Given the description of an element on the screen output the (x, y) to click on. 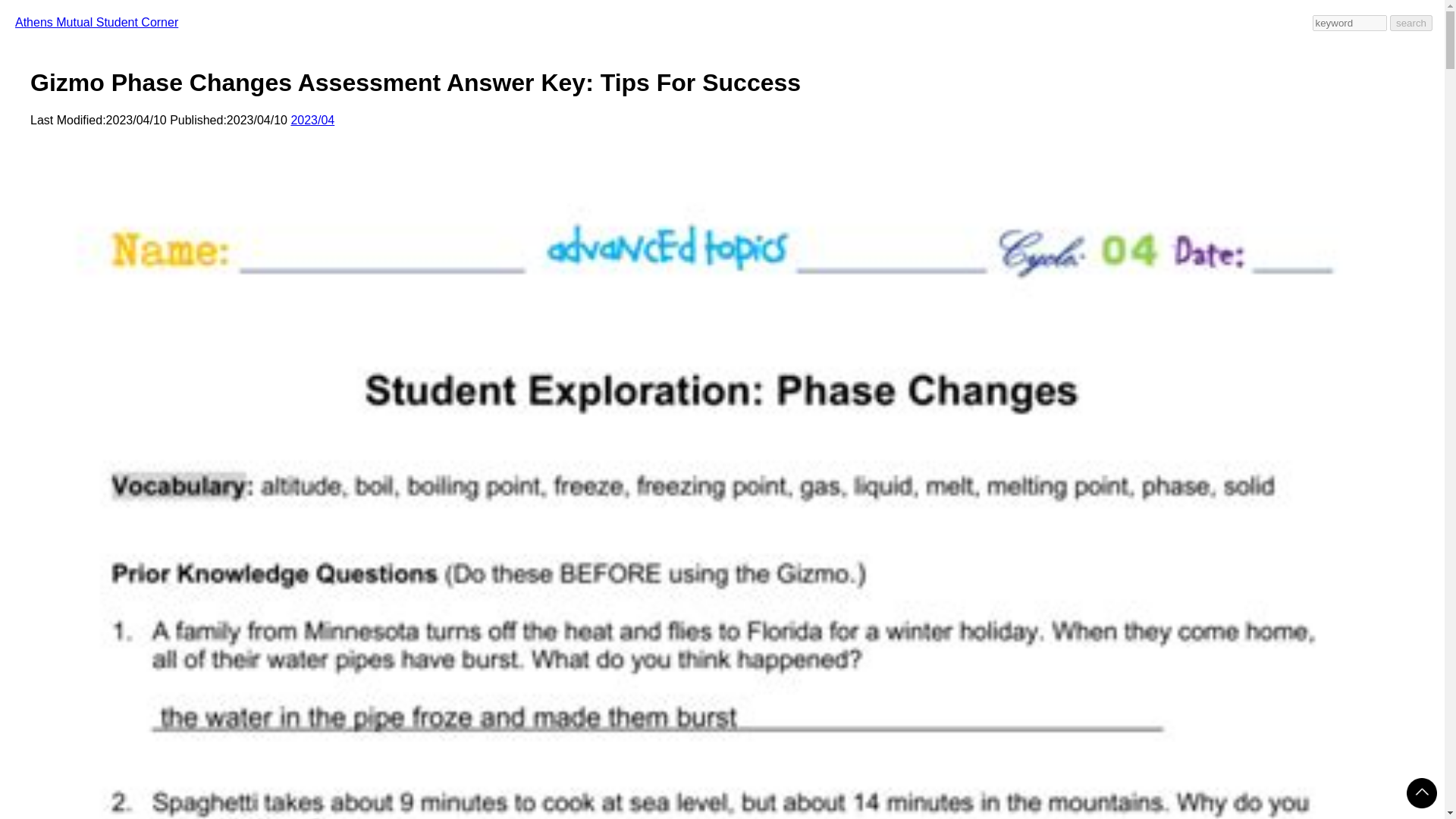
Athens Mutual Student Corner (95, 21)
search (1411, 23)
